Given the description of an element on the screen output the (x, y) to click on. 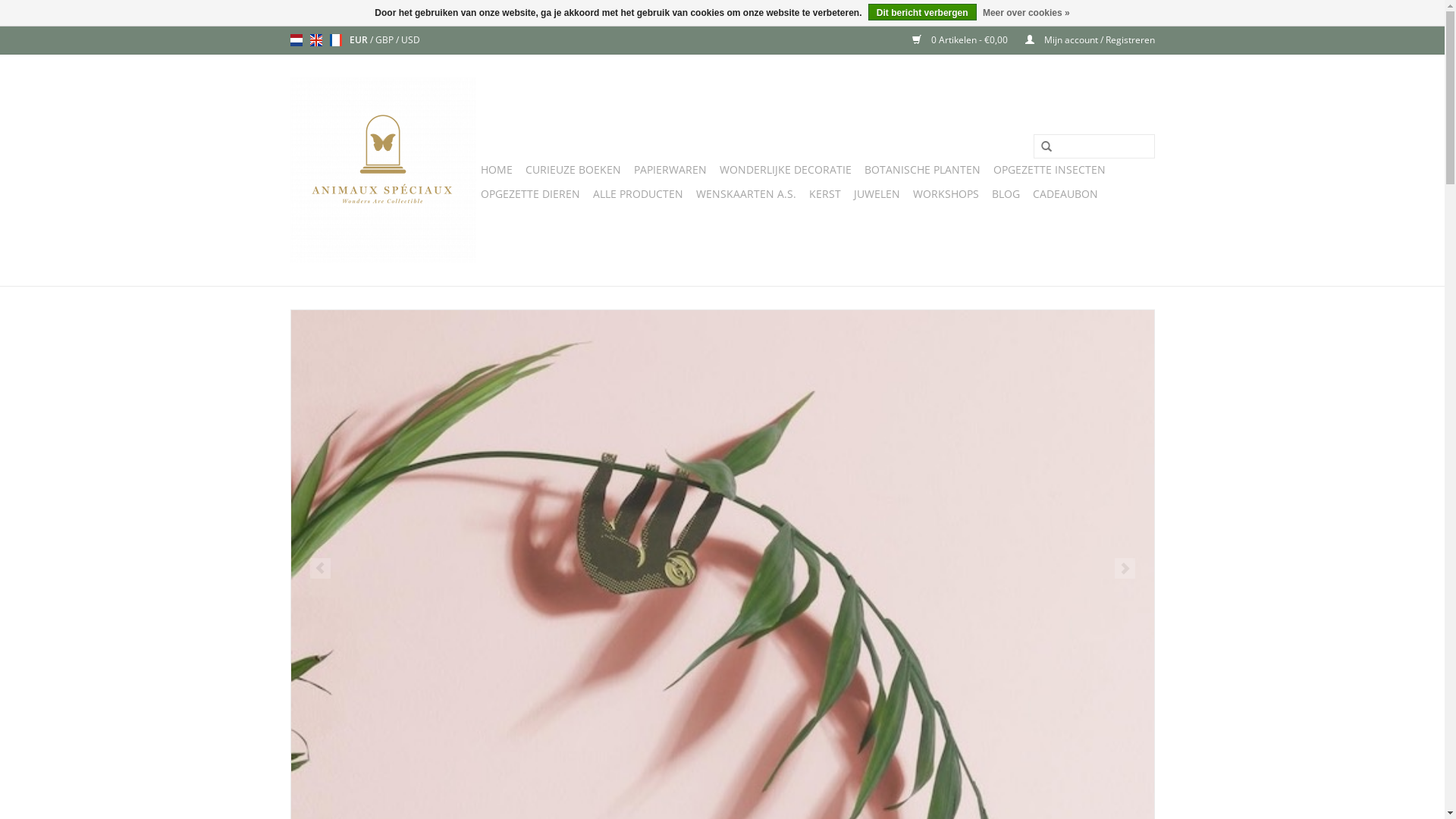
BLOG Element type: text (1005, 194)
Zoeken Element type: hover (1045, 147)
WENSKAARTEN A.S. Element type: text (745, 194)
OPGEZETTE DIEREN Element type: text (530, 194)
EUR Element type: text (358, 39)
PAPIERWAREN Element type: text (670, 169)
WONDERLIJKE DECORATIE Element type: text (784, 169)
OPGEZETTE INSECTEN Element type: text (1049, 169)
Animaux Speciaux Element type: hover (382, 170)
Dit bericht verbergen Element type: text (922, 11)
nl Element type: text (295, 40)
JUWELEN Element type: text (876, 194)
Vorige Element type: hover (319, 568)
BOTANISCHE PLANTEN Element type: text (922, 169)
fr Element type: text (335, 40)
CURIEUZE BOEKEN Element type: text (572, 169)
CADEAUBON Element type: text (1065, 194)
Mijn account / Registreren Element type: text (1082, 39)
USD Element type: text (409, 39)
Kartonnen dieren Element type: hover (722, 511)
ALLE PRODUCTEN Element type: text (637, 194)
WORKSHOPS Element type: text (945, 194)
Volgende Element type: hover (1124, 568)
KERST Element type: text (823, 194)
en Element type: text (315, 40)
GBP Element type: text (384, 39)
HOME Element type: text (496, 169)
